Given the description of an element on the screen output the (x, y) to click on. 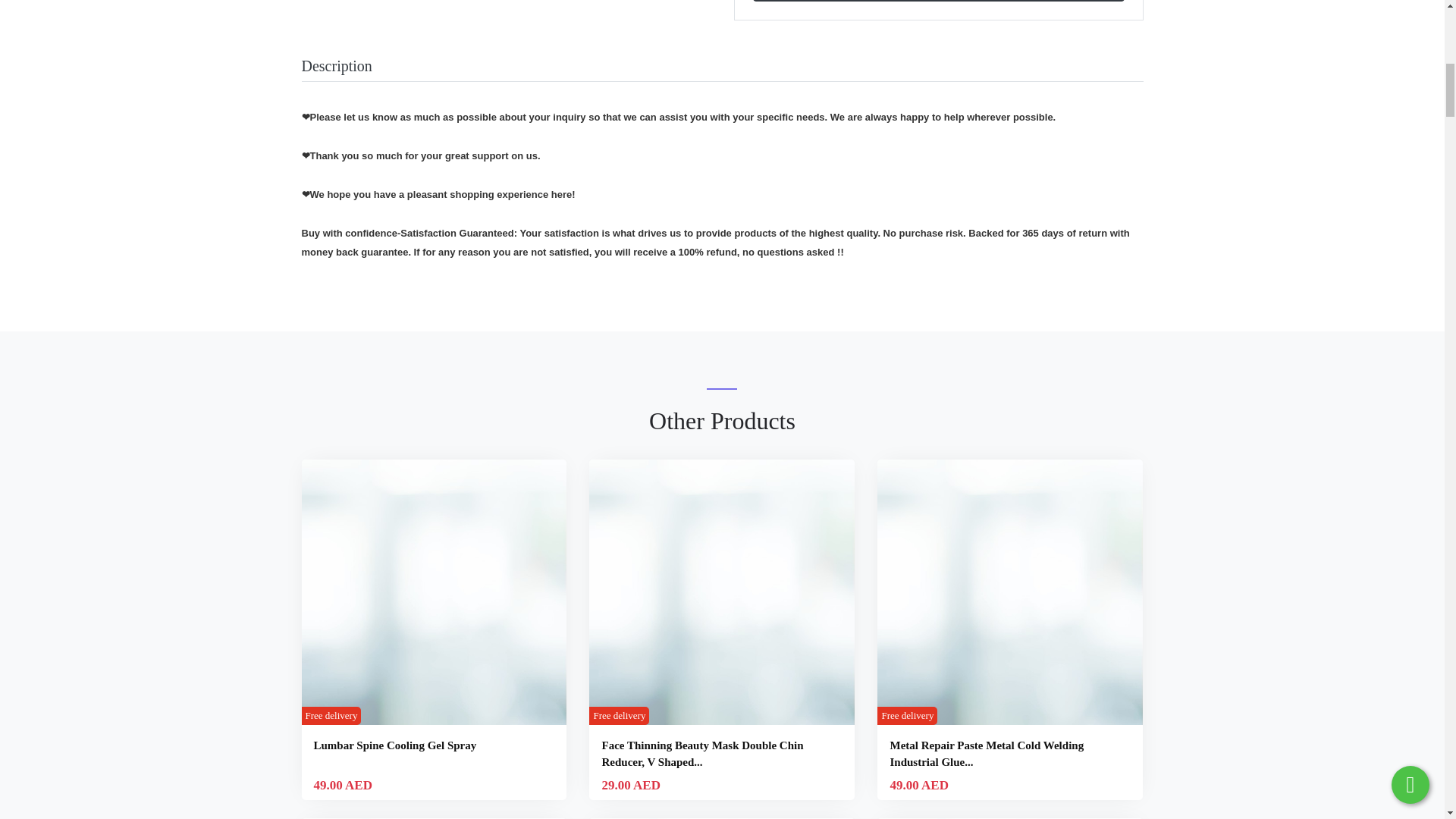
Lumbar Spine Cooling Gel Spray (395, 745)
Metal Repair Paste Metal Cold Welding Industrial Glue... (986, 753)
Face Thinning Beauty Mask Double Chin Reducer, V Shaped... (702, 753)
